Given the description of an element on the screen output the (x, y) to click on. 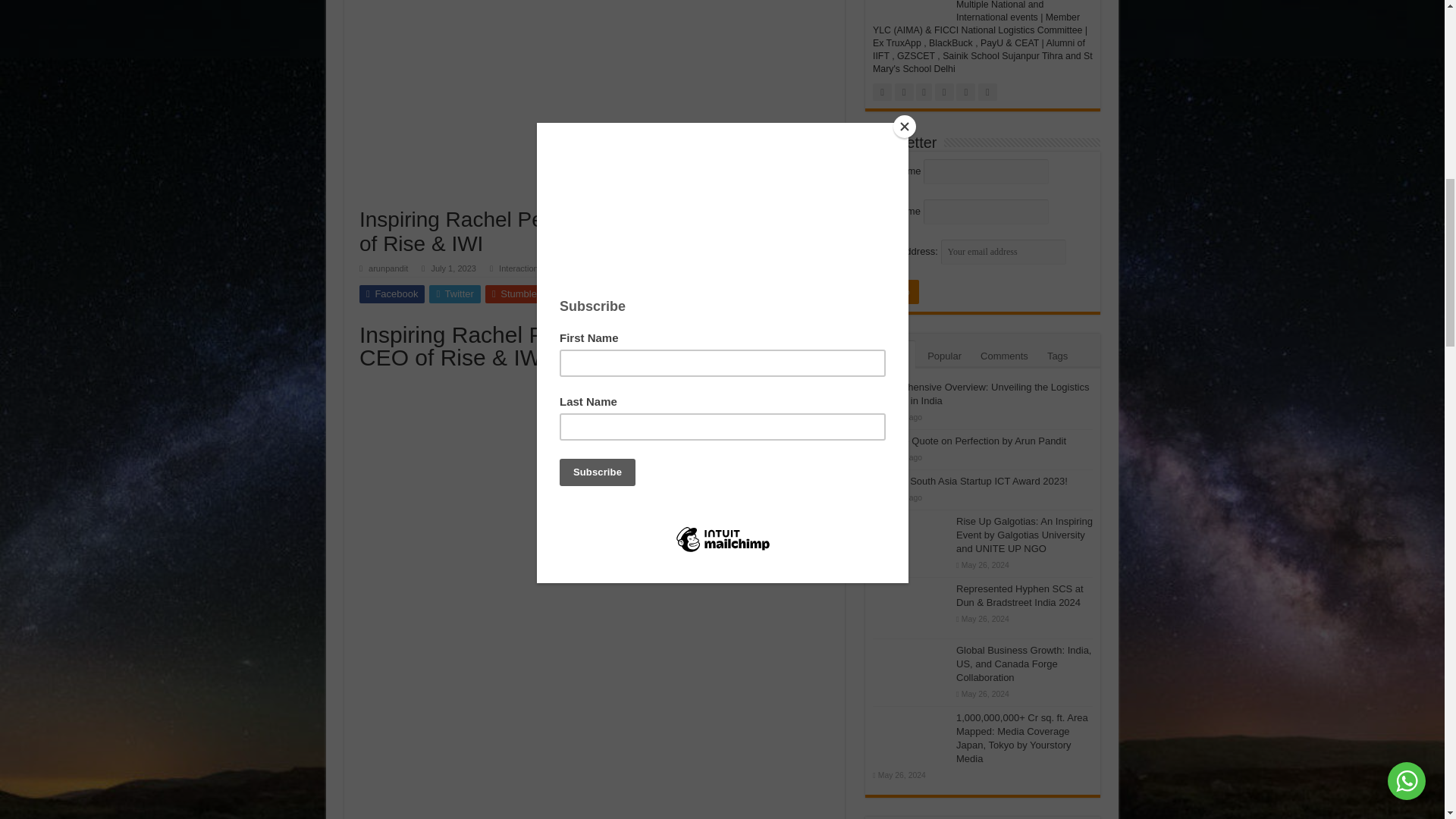
Sign up (895, 291)
